Given the description of an element on the screen output the (x, y) to click on. 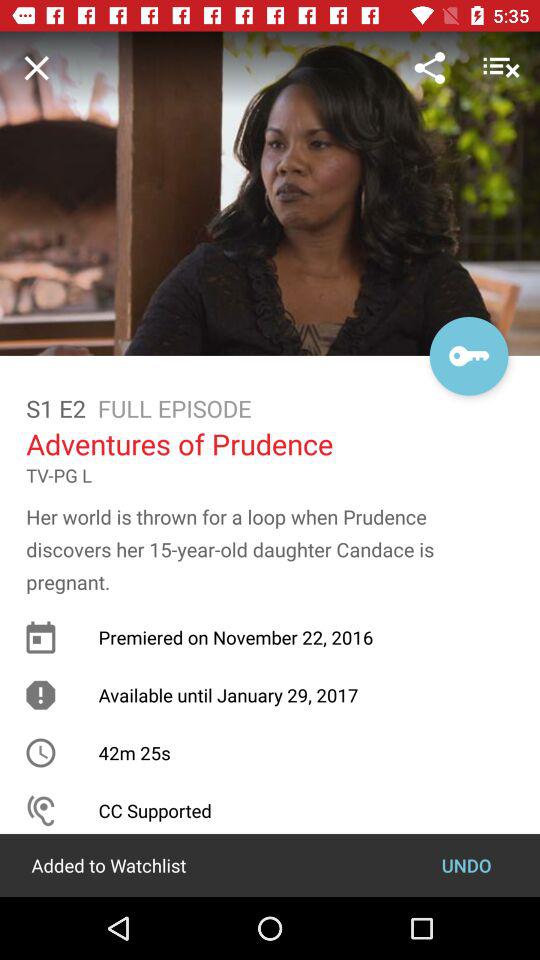
choose icon at the bottom right corner (466, 864)
